Given the description of an element on the screen output the (x, y) to click on. 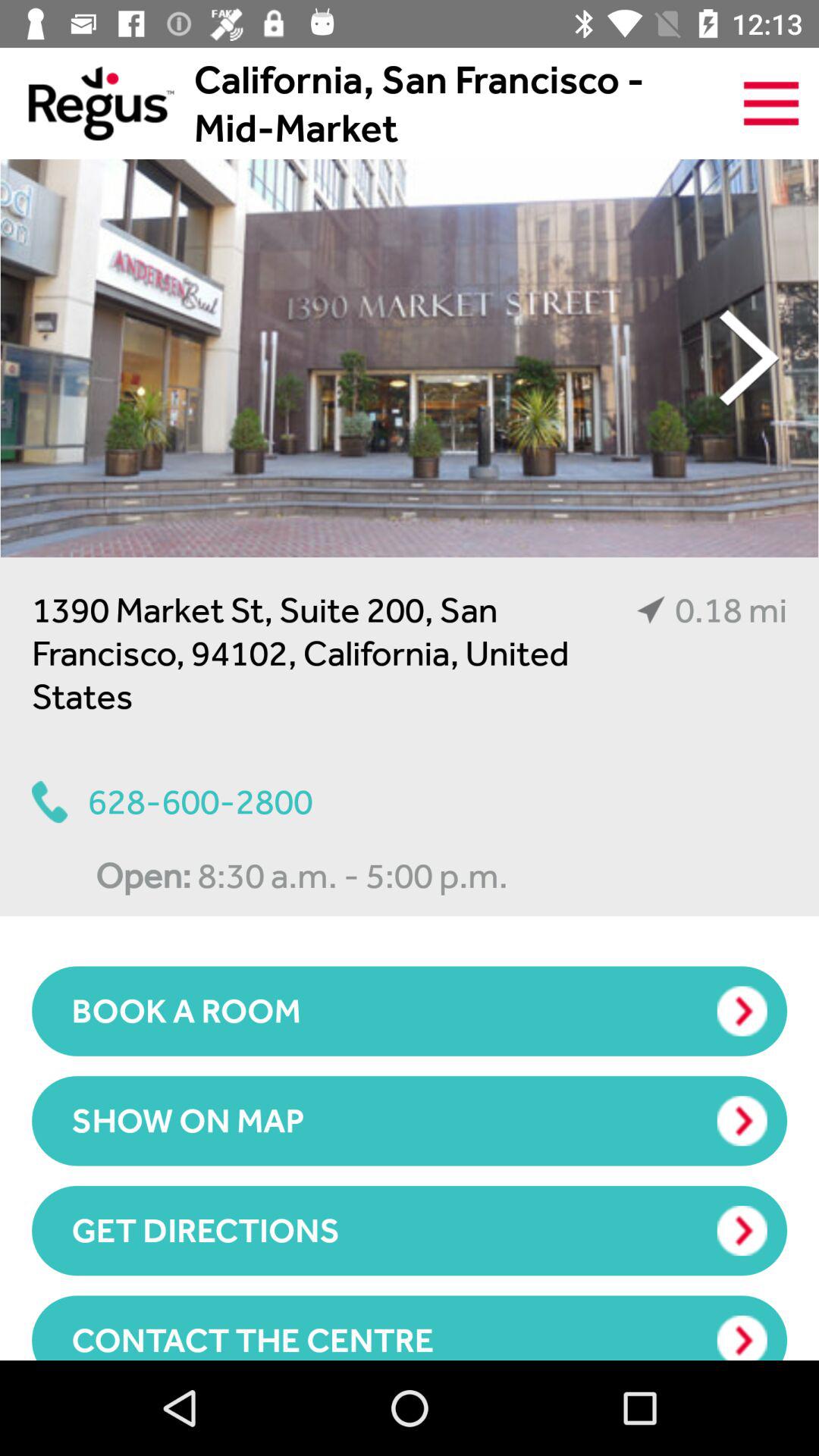
home page (87, 103)
